Given the description of an element on the screen output the (x, y) to click on. 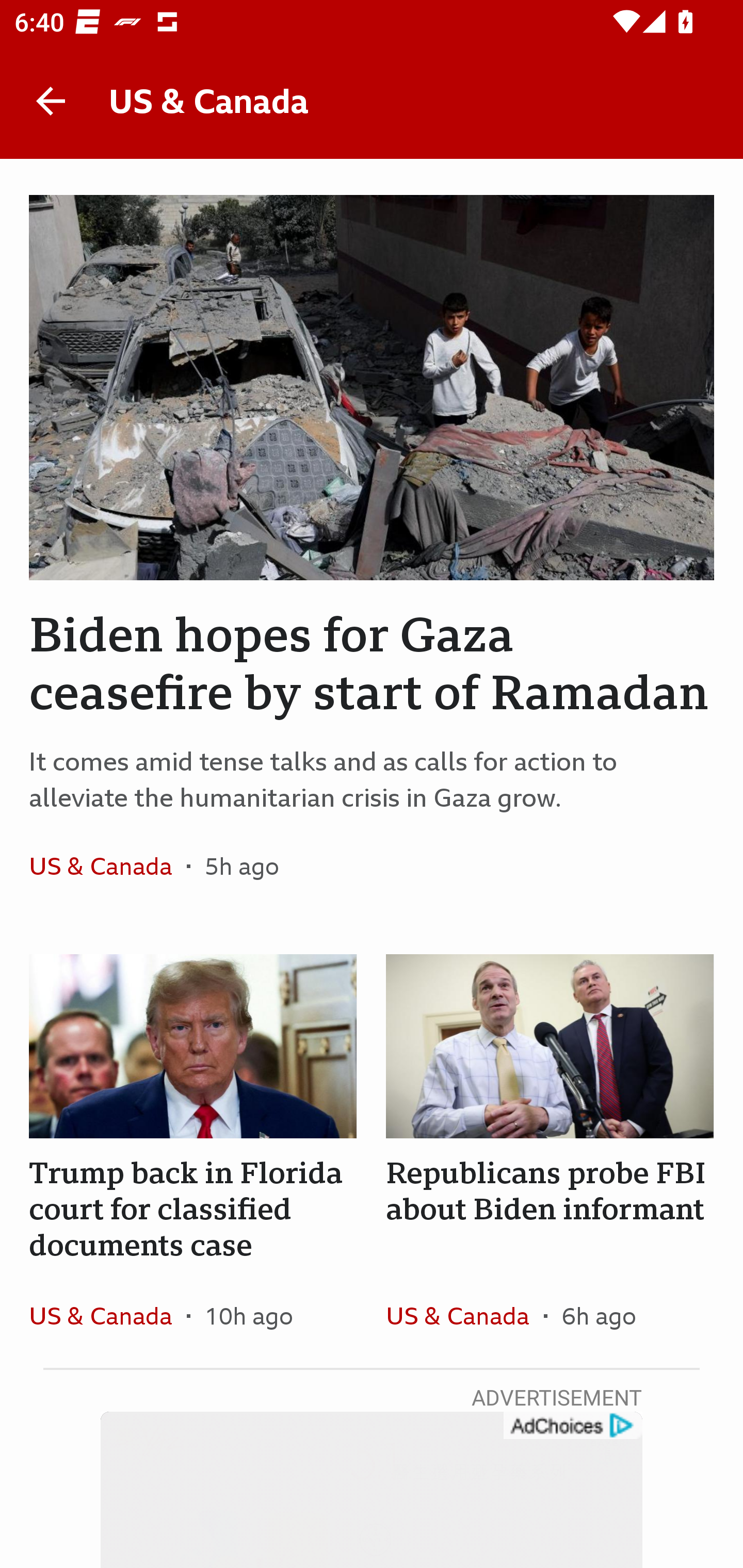
Back (50, 101)
US & Canada In the section US & Canada (107, 865)
US & Canada In the section US & Canada (107, 1315)
US & Canada In the section US & Canada (464, 1315)
get?name=admarker-full-tl (571, 1425)
